Given the description of an element on the screen output the (x, y) to click on. 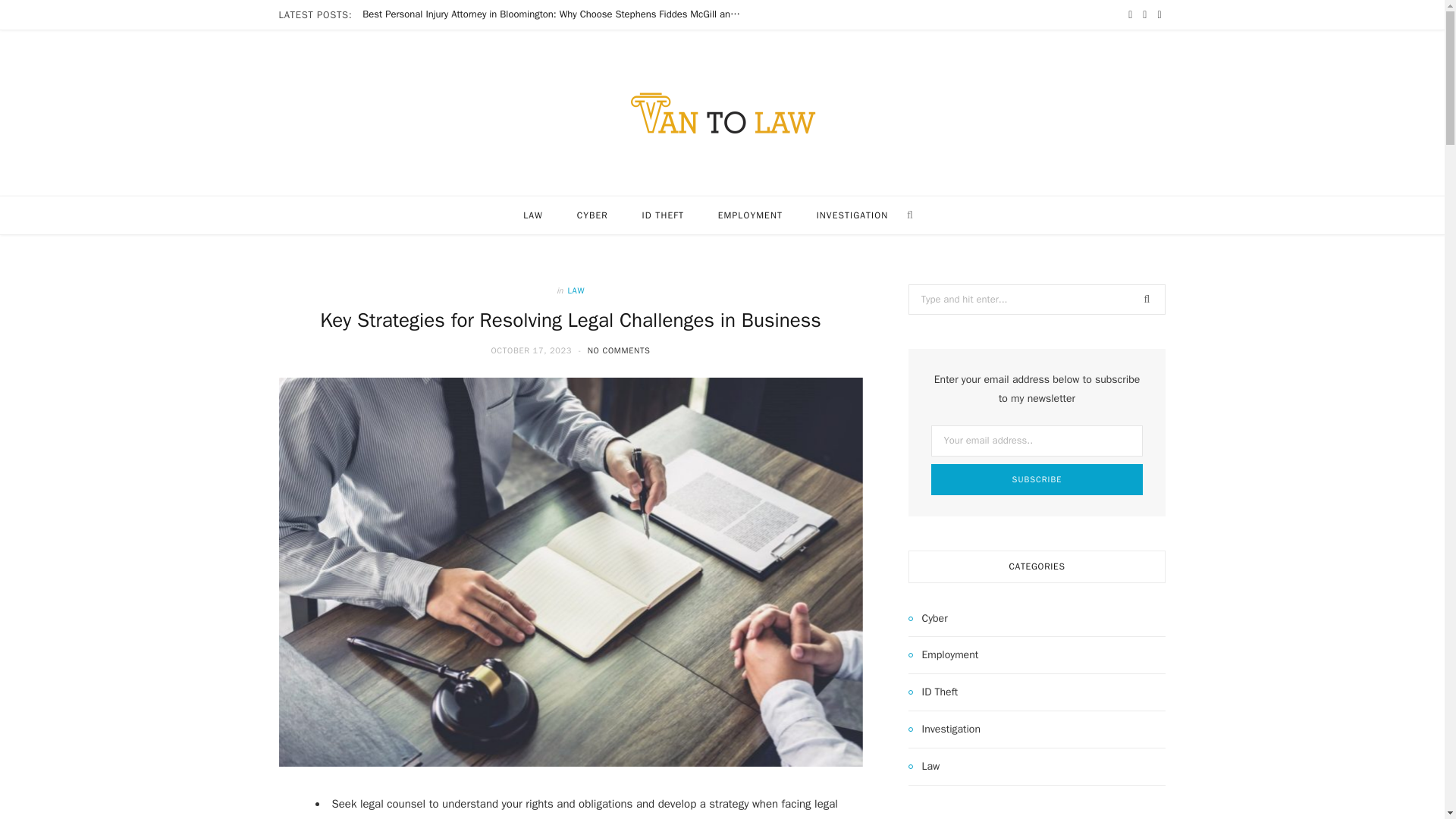
Van To Law (722, 112)
INVESTIGATION (853, 215)
ID THEFT (662, 215)
Subscribe (1036, 479)
OCTOBER 17, 2023 (532, 349)
NO COMMENTS (619, 349)
EMPLOYMENT (750, 215)
LAW (576, 290)
CYBER (592, 215)
LAW (532, 215)
